Given the description of an element on the screen output the (x, y) to click on. 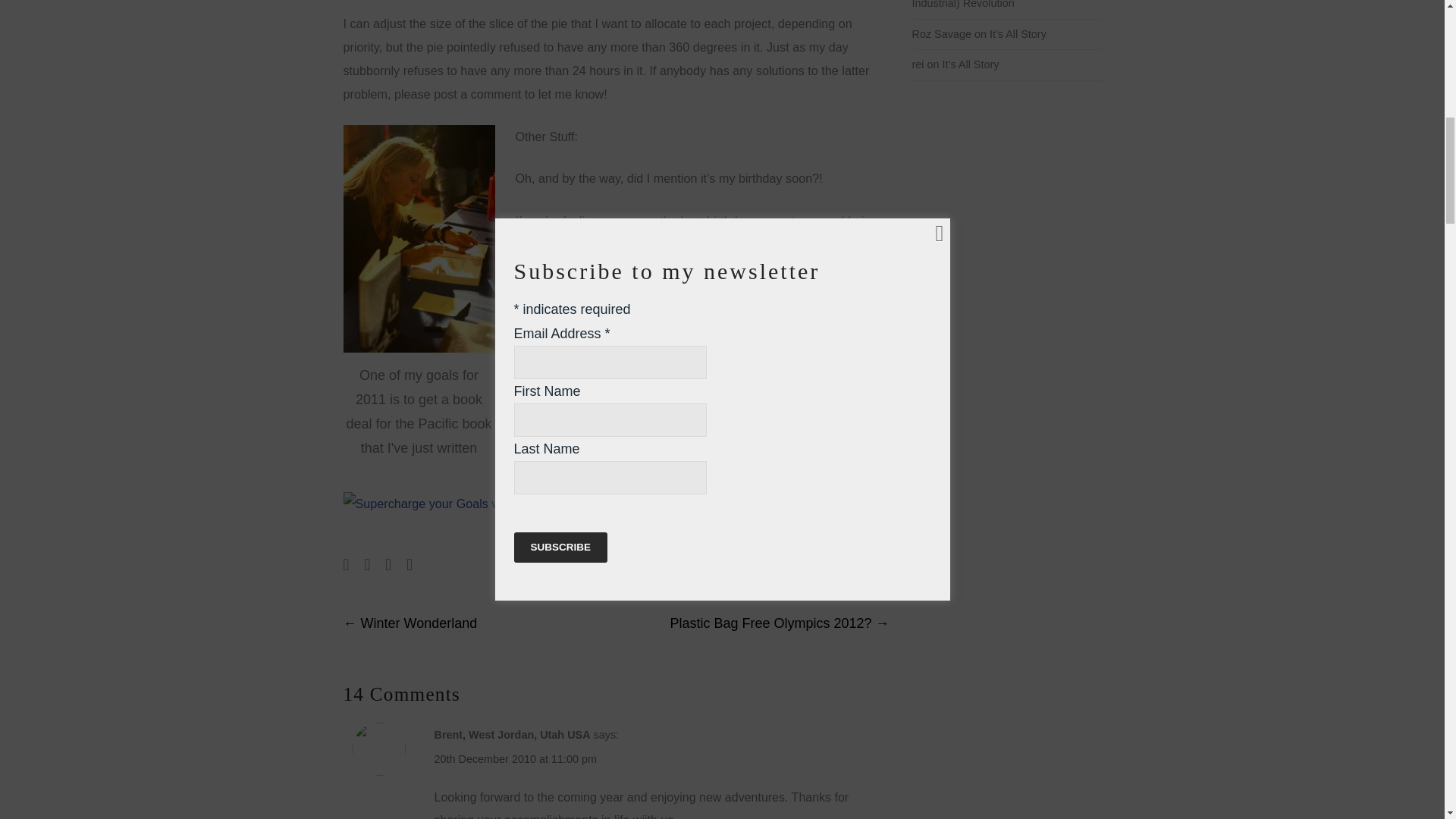
20th December 2010 at 11:00 pm (514, 758)
